Given the description of an element on the screen output the (x, y) to click on. 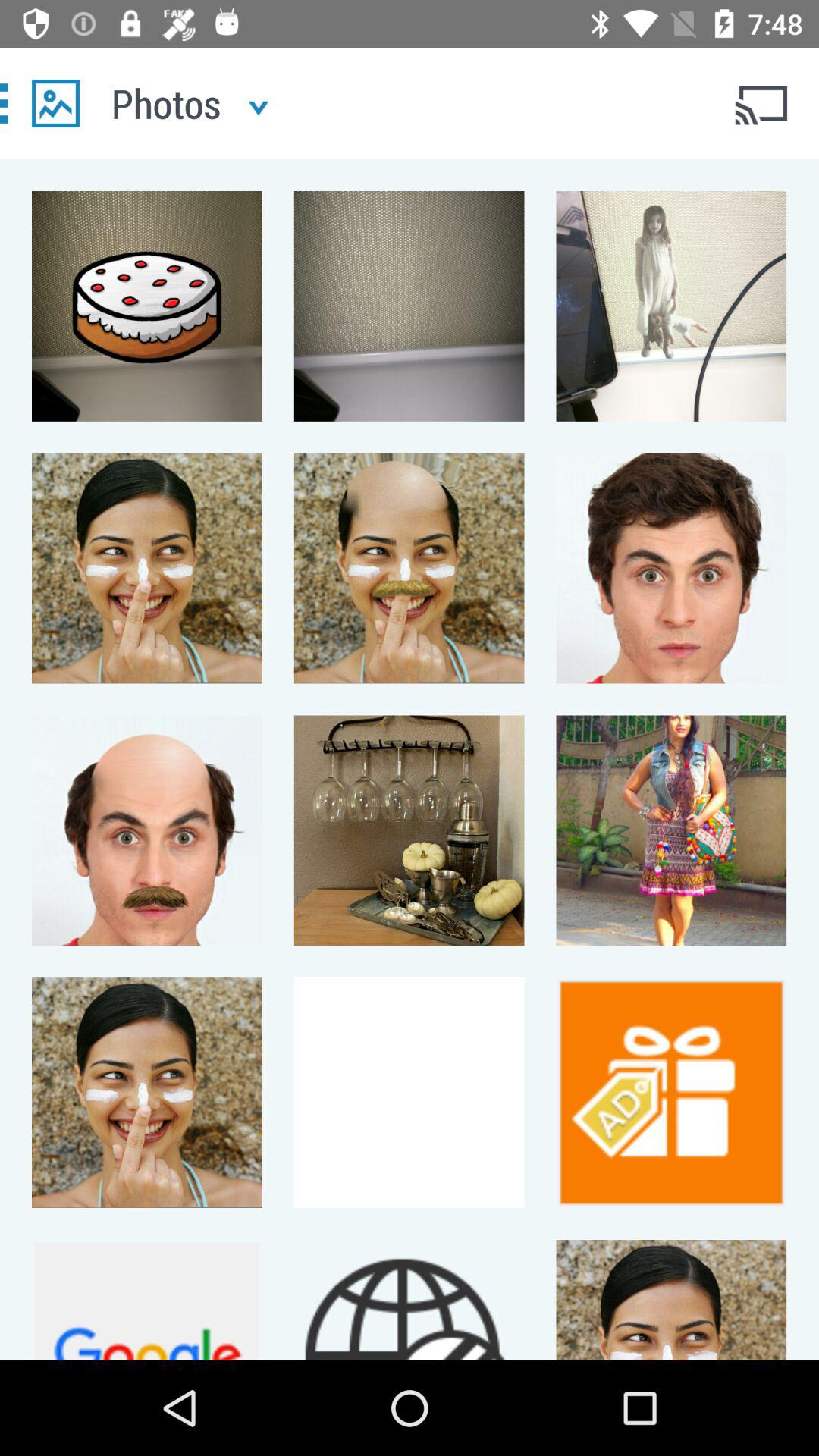
cast connection button (763, 103)
